Given the description of an element on the screen output the (x, y) to click on. 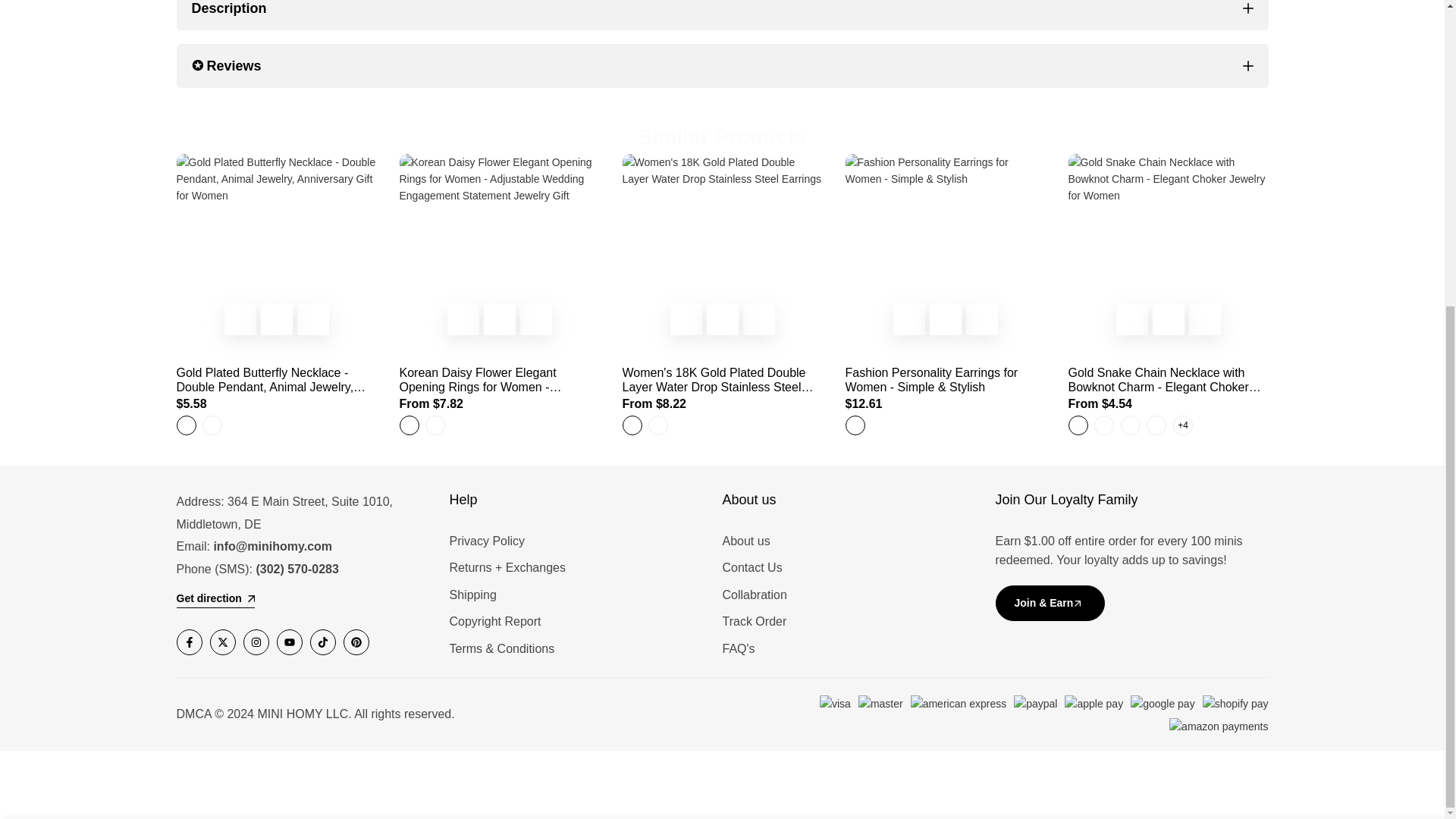
Show More Colors (1182, 424)
1 (1081, 370)
